Given the description of an element on the screen output the (x, y) to click on. 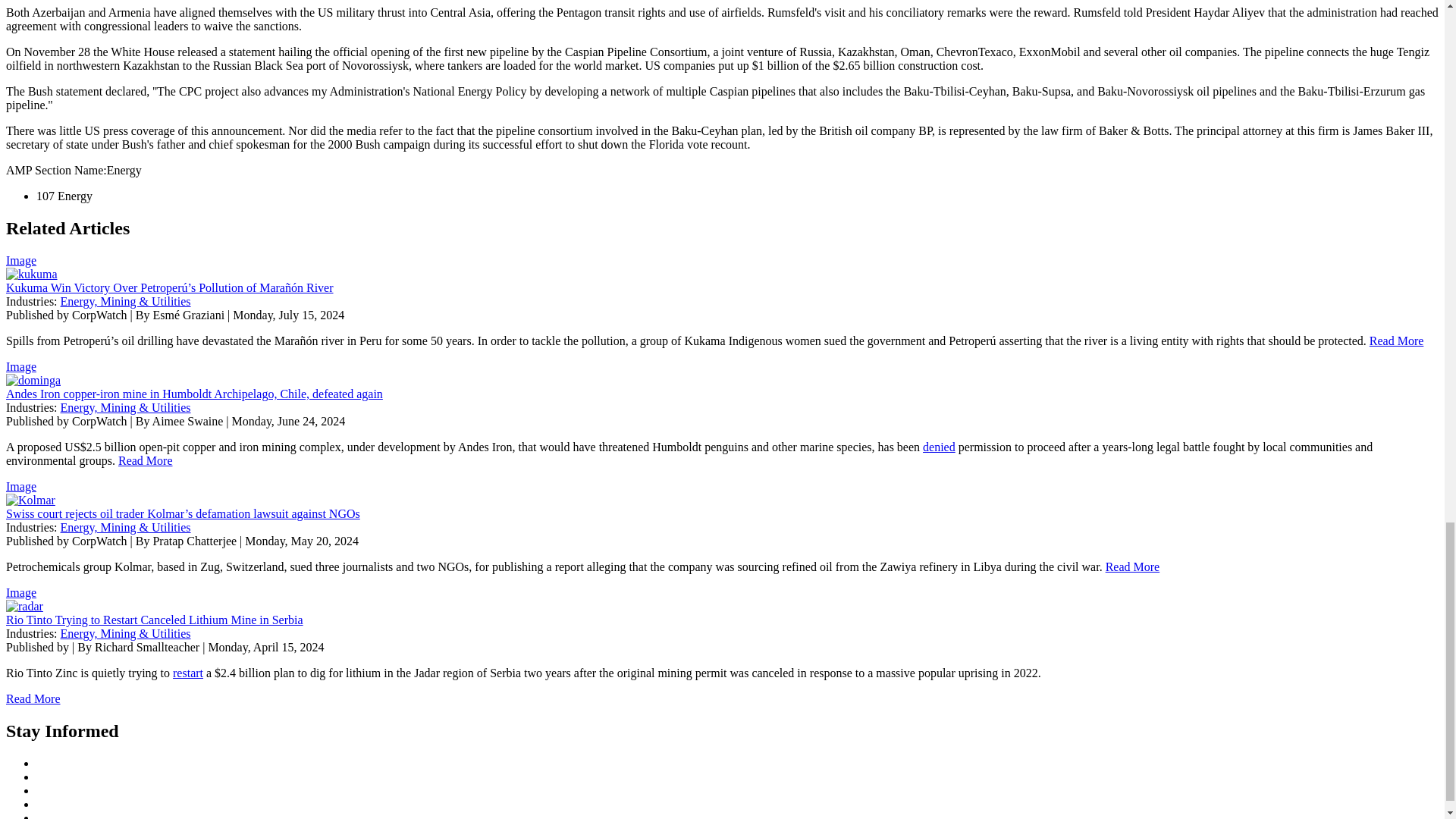
Read More (1132, 566)
Read More (145, 460)
Read More (1396, 340)
restart (188, 672)
denied (939, 446)
Rio Tinto Trying to Restart Canceled Lithium Mine in Serbia (153, 619)
